Given the description of an element on the screen output the (x, y) to click on. 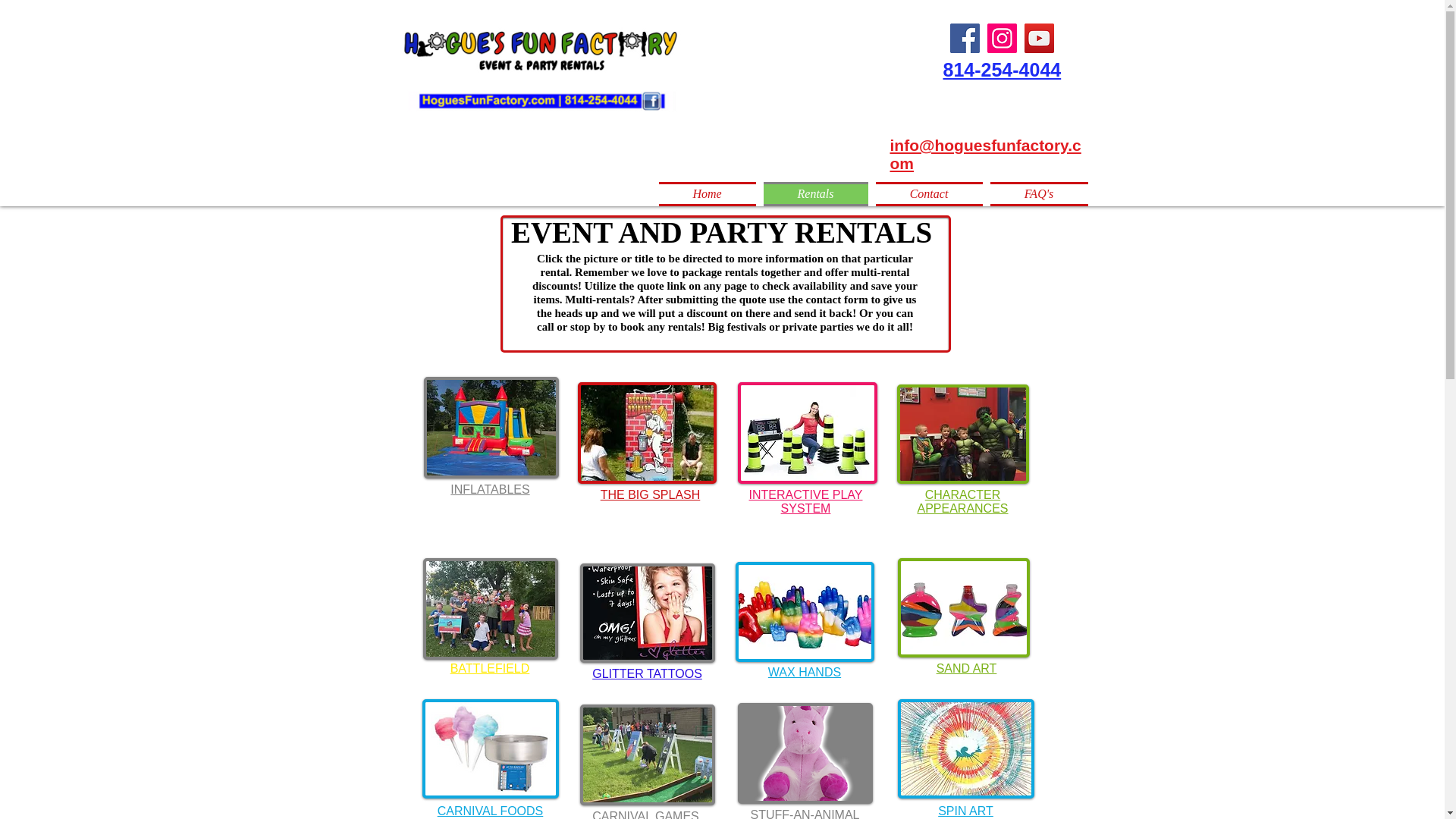
814-254-4044 (1002, 69)
BATTLEFIELD (489, 667)
FAQ's (1036, 193)
INTERACTIVE PLAY SYSTEM (806, 501)
Contact (929, 193)
CARNIVAL GAMES (645, 814)
CARNIVAL FOODS (490, 810)
WAX HANDS (804, 671)
Rentals (816, 193)
Home (708, 193)
CHARACTER APPEARANCES (962, 501)
GLITTER TATTOOS (646, 673)
INFLATABLES (489, 489)
THE BIG SPLASH (649, 494)
